Given the description of an element on the screen output the (x, y) to click on. 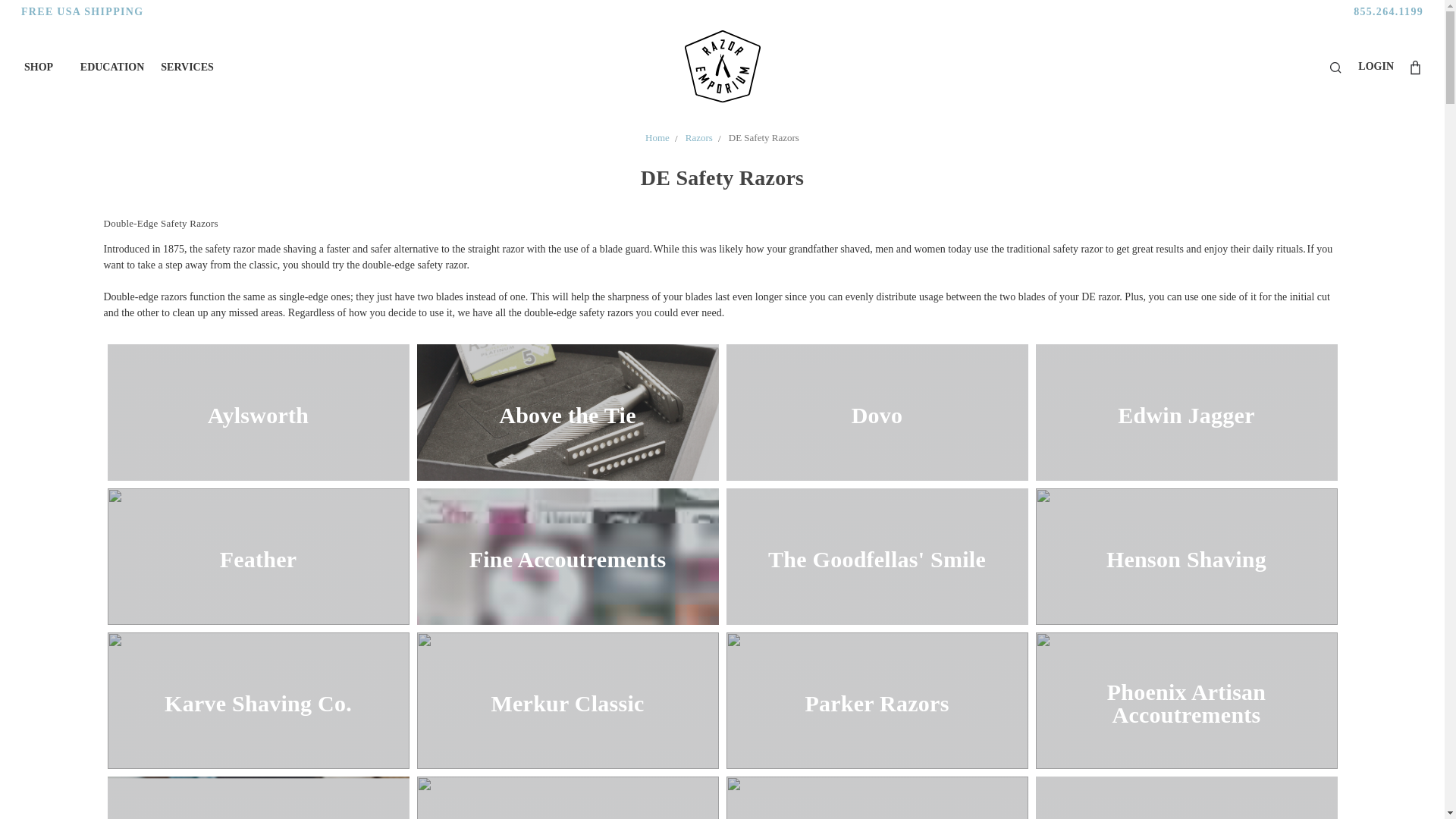
SHOP (43, 66)
LOGIN (1375, 66)
Razor Emporium (722, 66)
EDUCATION (111, 66)
SERVICES (187, 66)
